Given the description of an element on the screen output the (x, y) to click on. 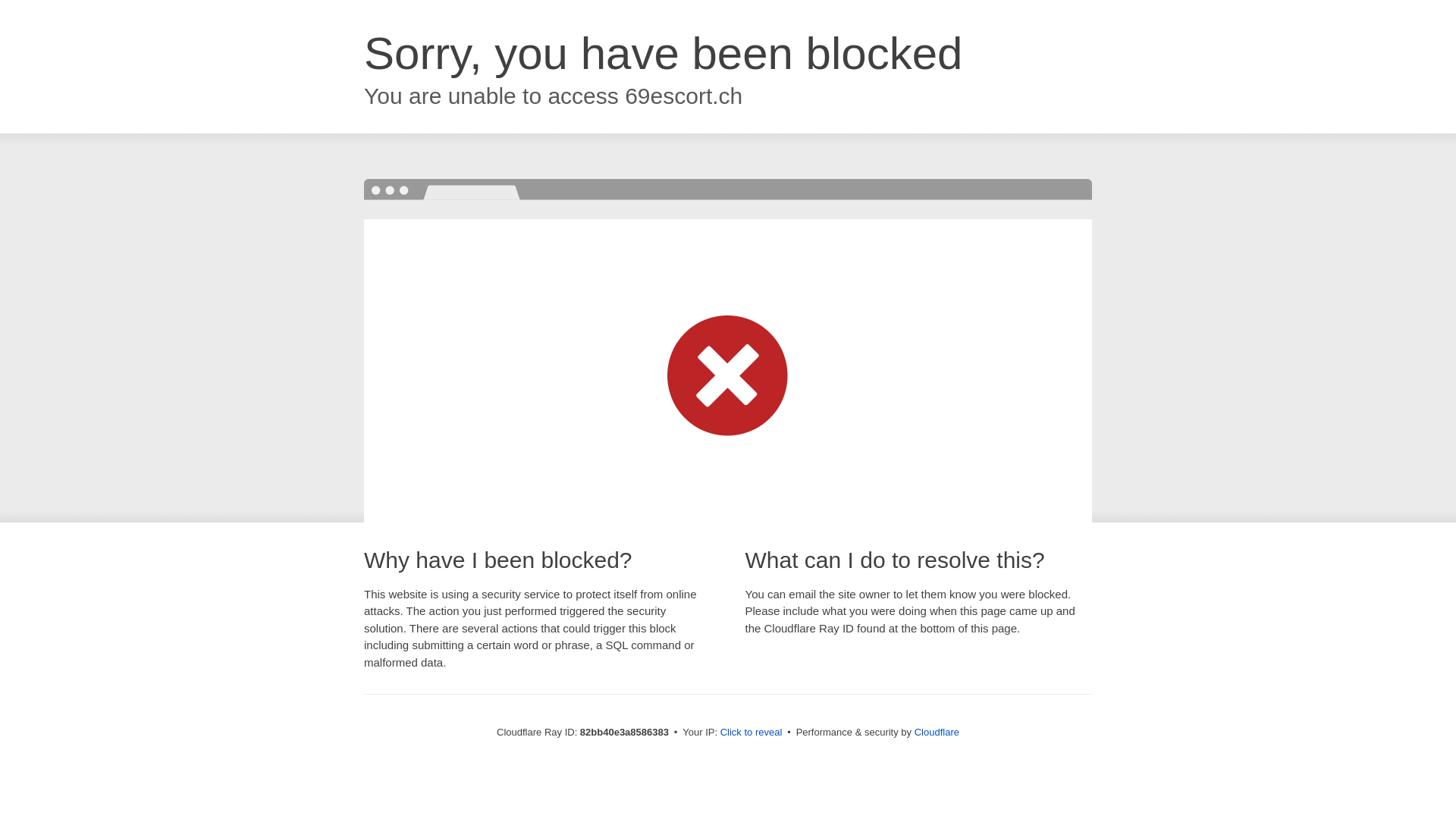
Cloudflare Element type: text (936, 731)
Click to reveal Element type: text (751, 732)
